Given the description of an element on the screen output the (x, y) to click on. 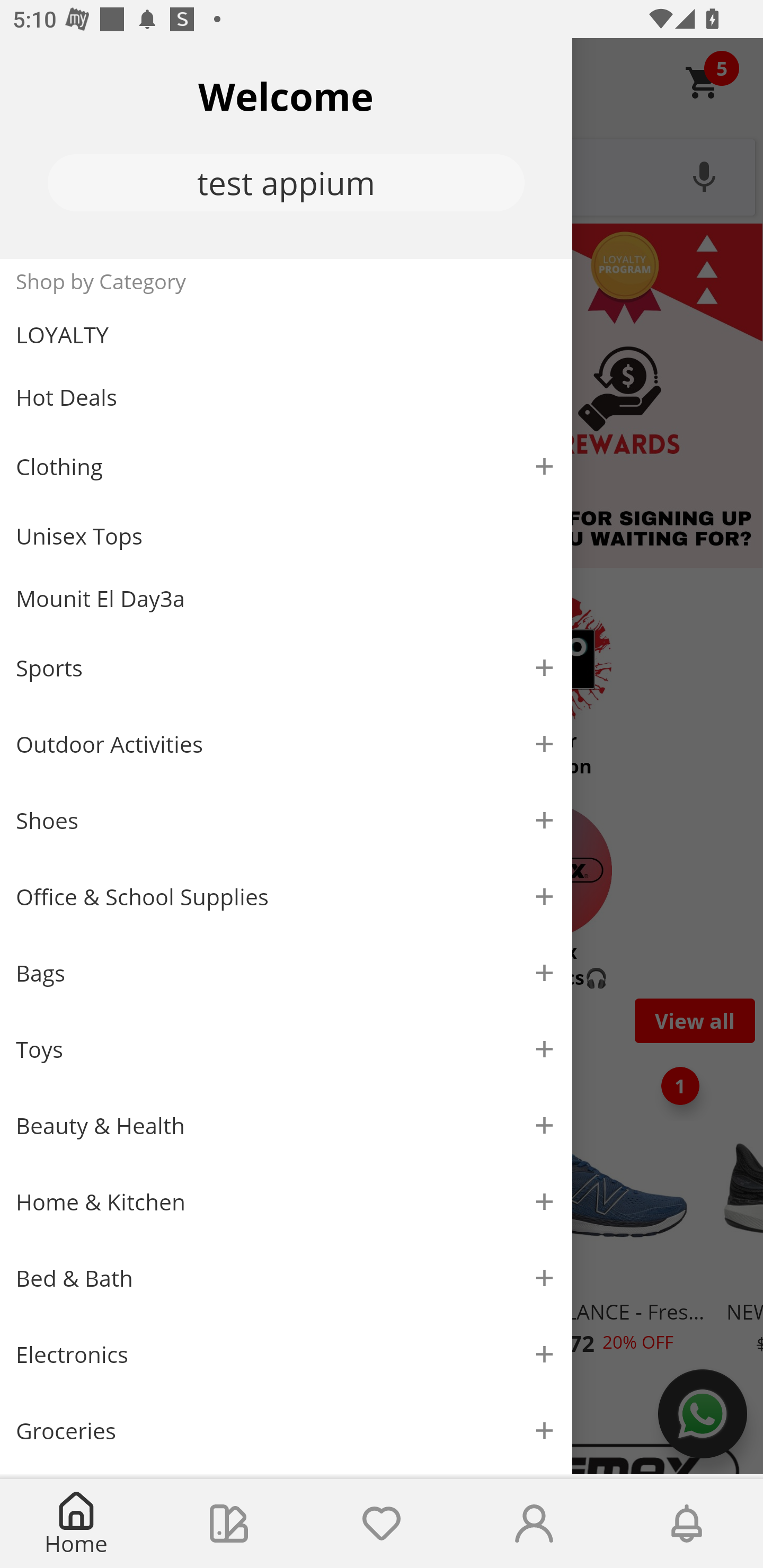
Welcome test appium (286, 147)
LOYALTY (286, 334)
Hot Deals (286, 396)
Clothing (286, 466)
Unisex Tops (286, 535)
Mounit El Day3a (286, 598)
Sports (286, 667)
Outdoor Activities (286, 743)
Shoes (286, 820)
Office & School Supplies (286, 896)
Bags (286, 972)
Toys (286, 1049)
Beauty & Health (286, 1125)
Home & Kitchen (286, 1201)
Bed & Bath (286, 1278)
Electronics (286, 1354)
Groceries (286, 1430)
Collections (228, 1523)
Wishlist (381, 1523)
Account (533, 1523)
Notifications (686, 1523)
